Given the description of an element on the screen output the (x, y) to click on. 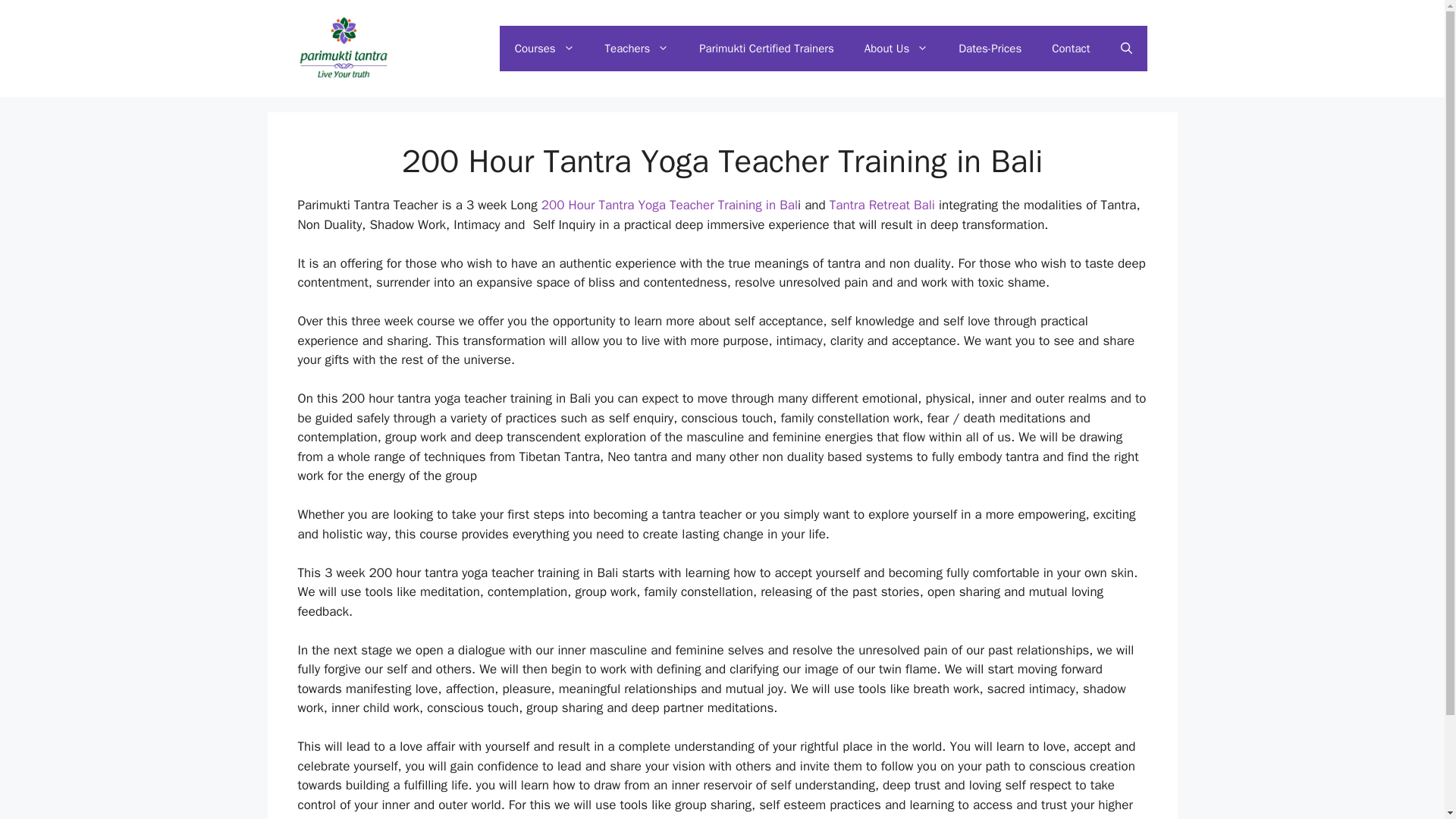
Tantra Retreat Bali (881, 204)
Teachers (636, 48)
About Us (895, 48)
Dates-Prices (989, 48)
200 Hour Tantra Yoga Teacher Training in Bal (669, 204)
Parimukti Certified Trainers (766, 48)
Contact (1070, 48)
Courses (544, 48)
